Given the description of an element on the screen output the (x, y) to click on. 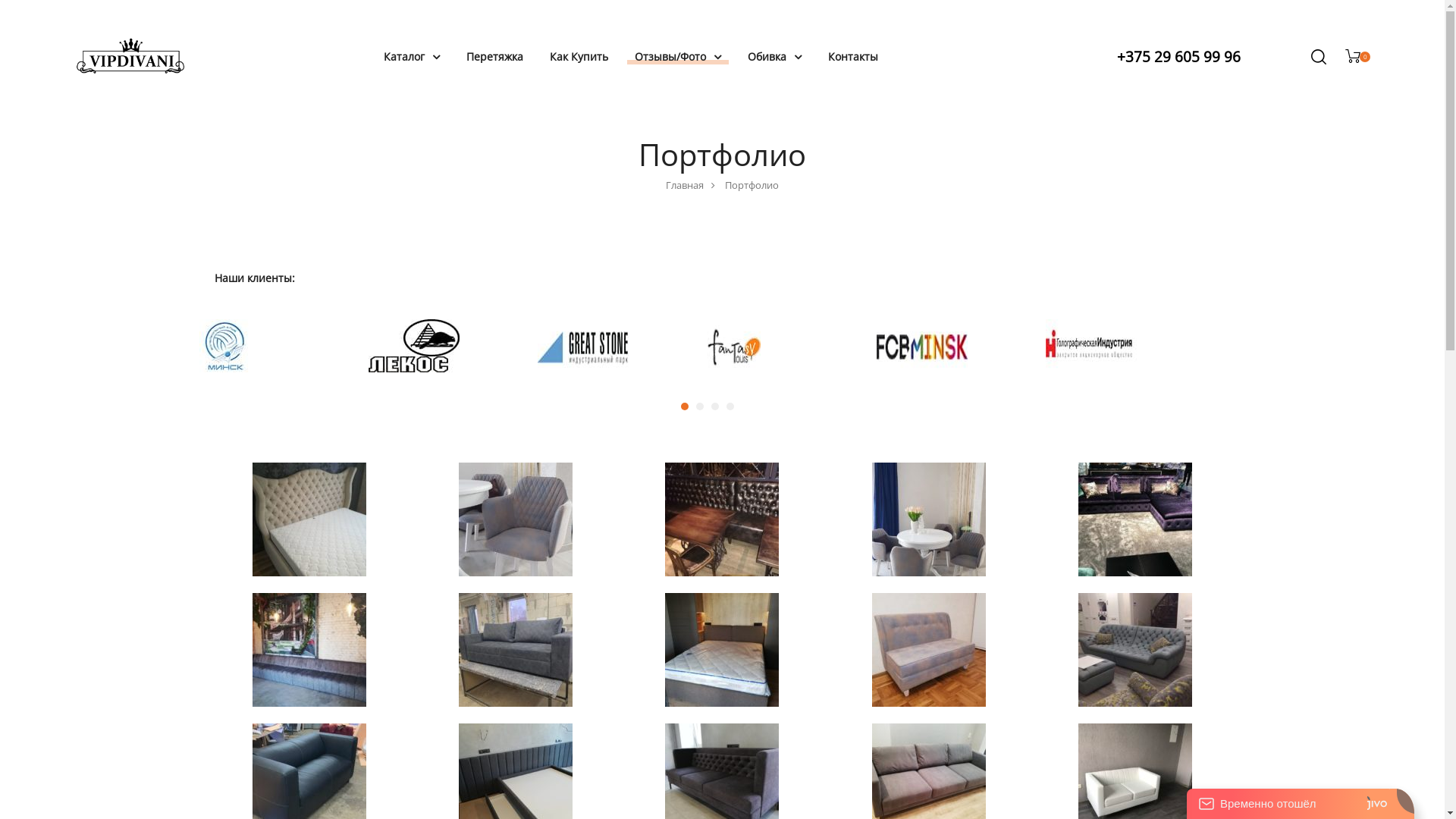
Brand Name Element type: hover (733, 367)
Brand Name Element type: hover (413, 367)
+375 29 605 99 96 Element type: text (1178, 56)
Brand Name Element type: hover (582, 367)
Brand Name Element type: hover (921, 367)
Brand Name Element type: hover (1090, 367)
0 Element type: text (1357, 57)
Brand Name Element type: hover (225, 367)
